Given the description of an element on the screen output the (x, y) to click on. 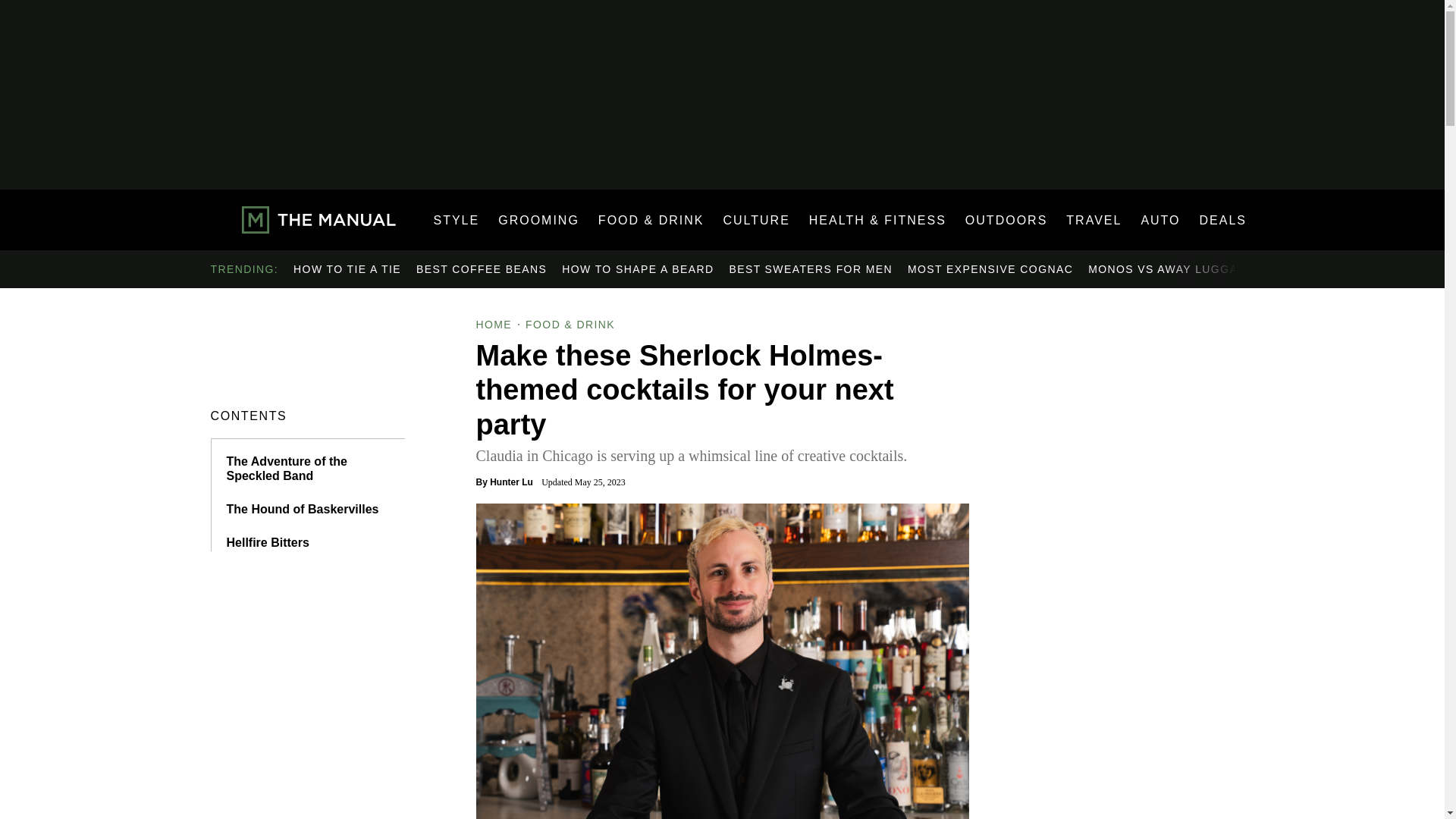
CULTURE (755, 219)
GROOMING (538, 219)
TRAVEL (1093, 219)
OUTDOORS (1005, 219)
